Given the description of an element on the screen output the (x, y) to click on. 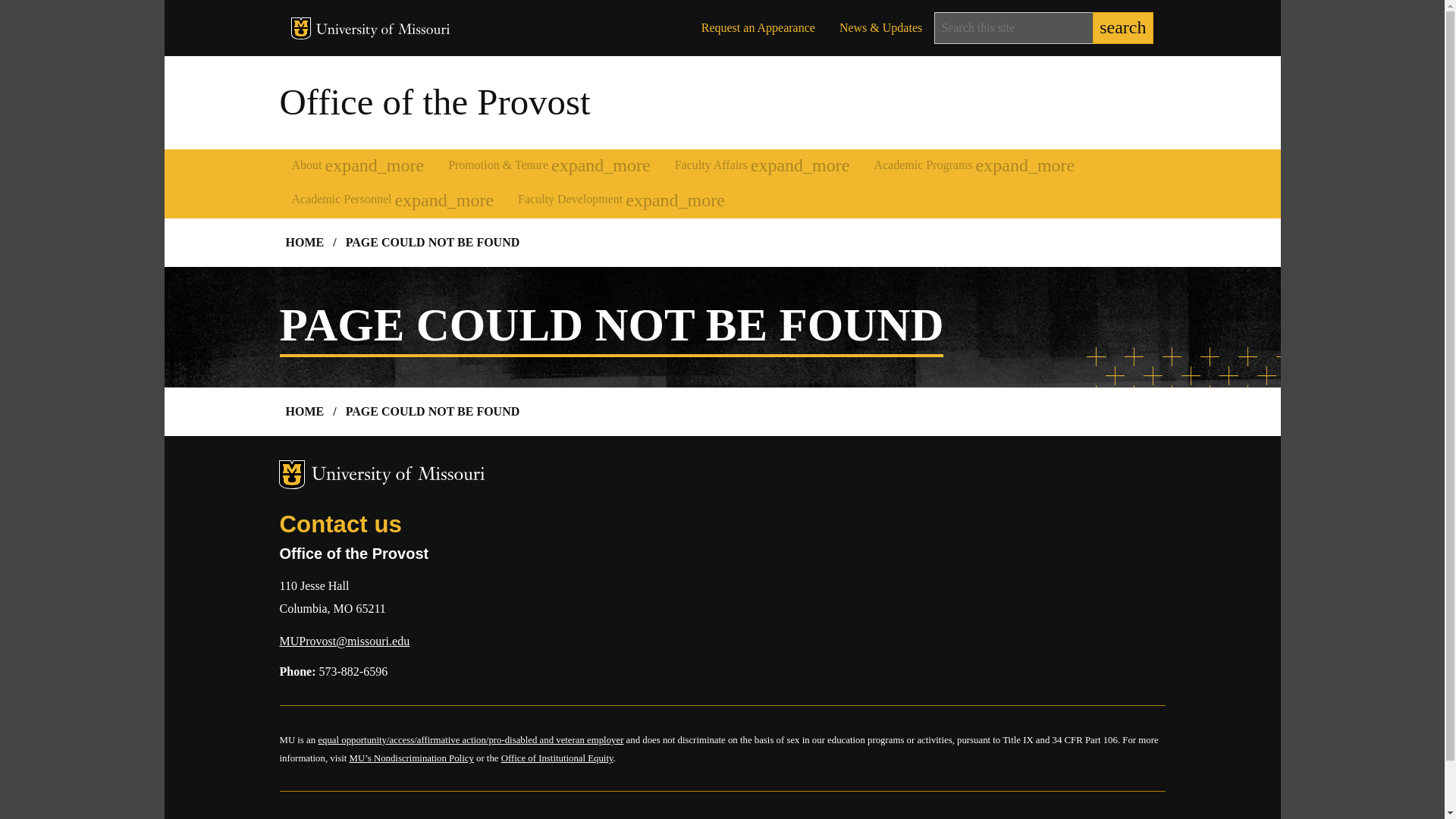
search (1123, 28)
Office of the Provost (434, 101)
University of Missouri (382, 30)
Request an Appearance (757, 28)
MU Logo (301, 27)
Office of the Provost (434, 101)
